Given the description of an element on the screen output the (x, y) to click on. 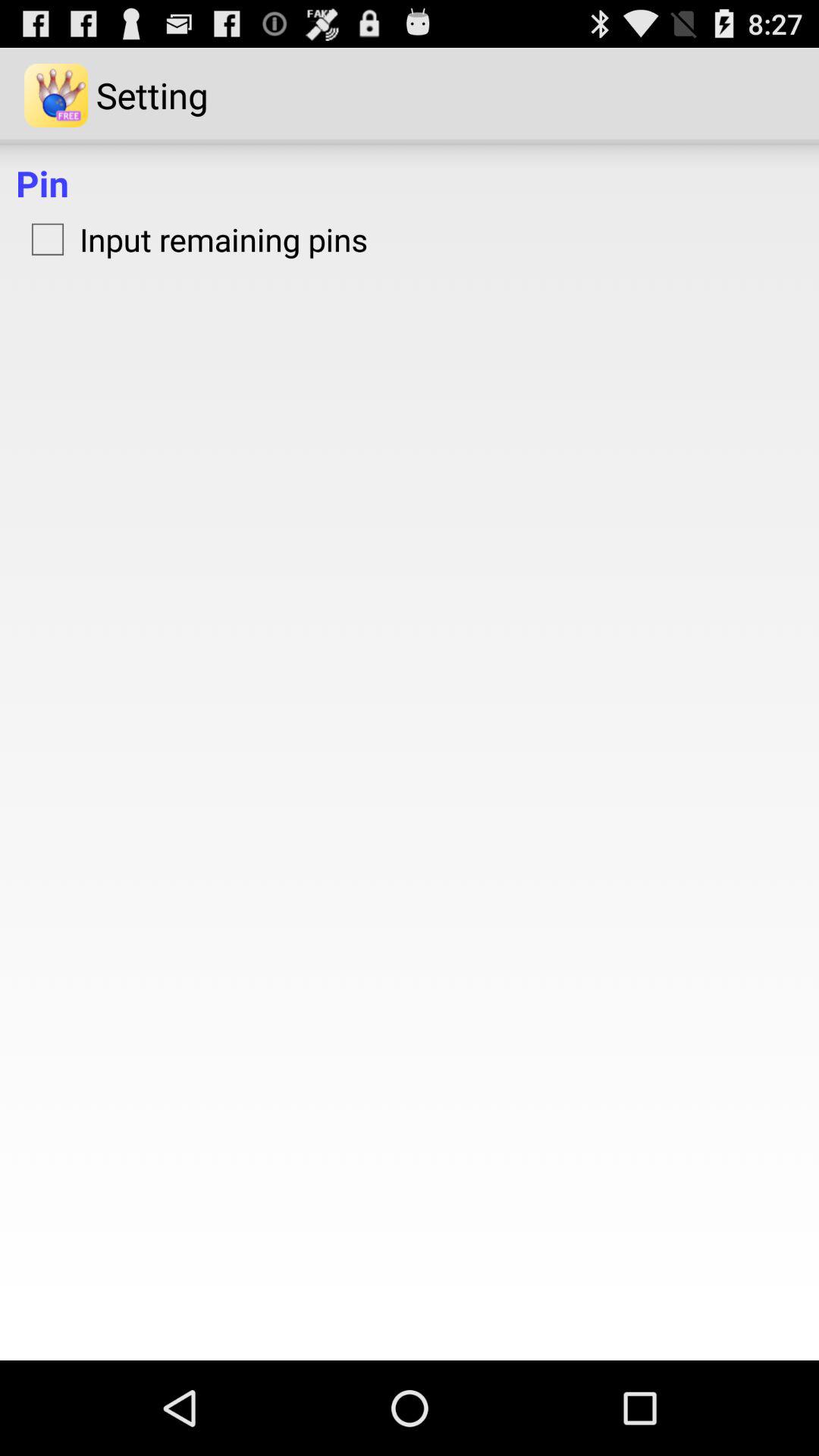
swipe to input remaining pins checkbox (191, 239)
